Given the description of an element on the screen output the (x, y) to click on. 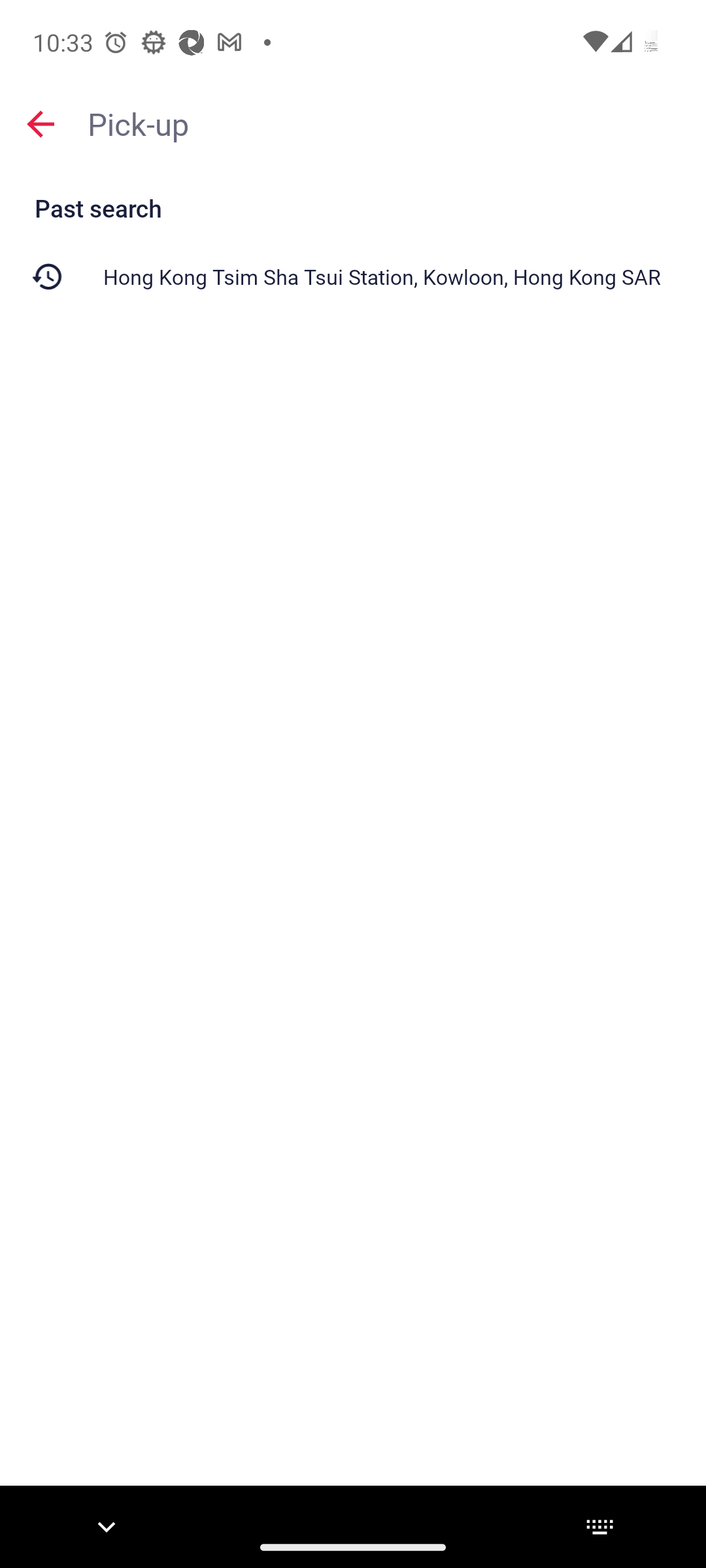
Close search screen (41, 124)
Pick-up,  (387, 123)
